Given the description of an element on the screen output the (x, y) to click on. 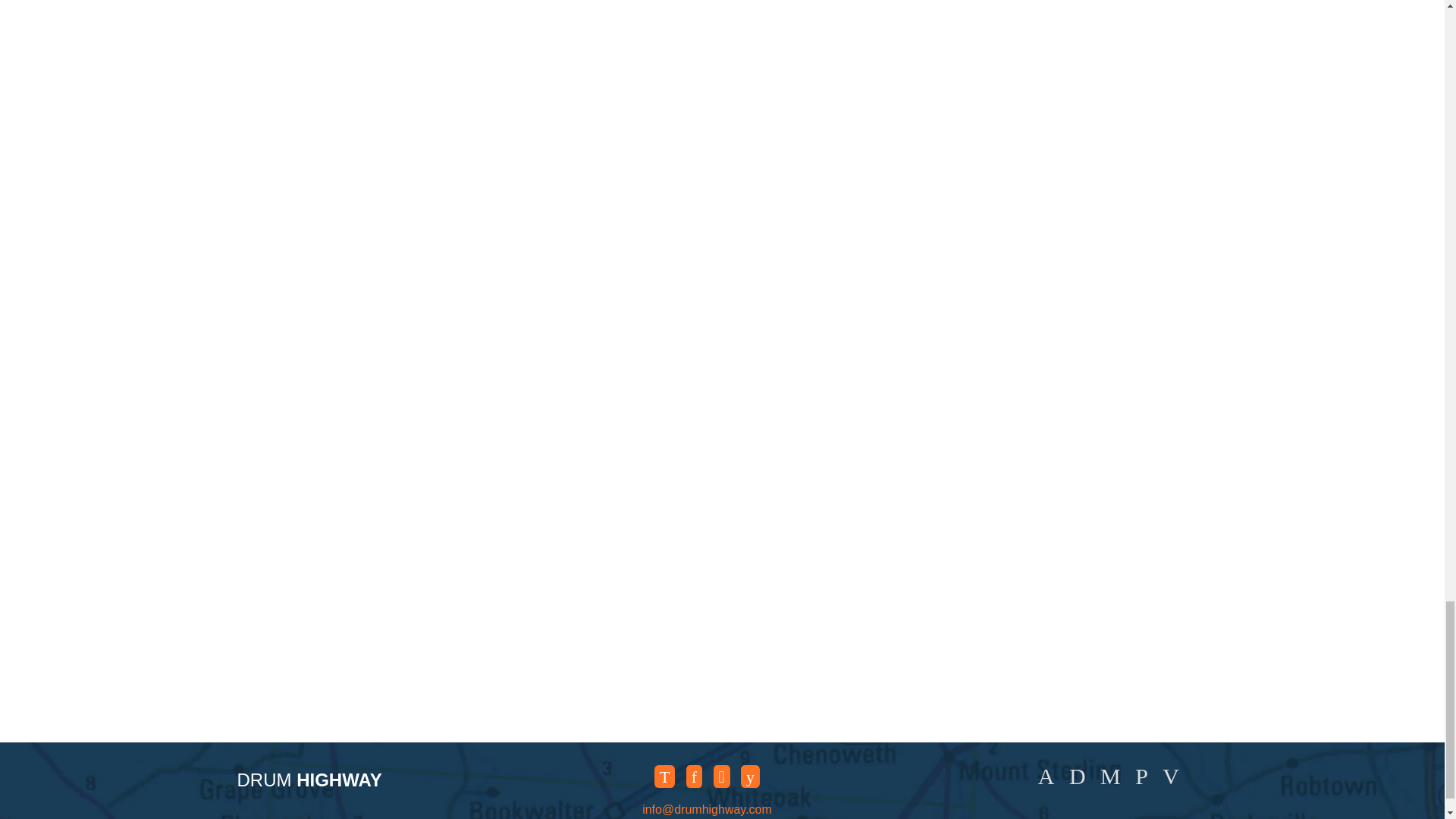
Drum Highway on Instagram (721, 775)
Drum Highway on YouTube (750, 775)
Drum Highway on Facebook (693, 775)
Drum Highway on Twitter (664, 775)
